Given the description of an element on the screen output the (x, y) to click on. 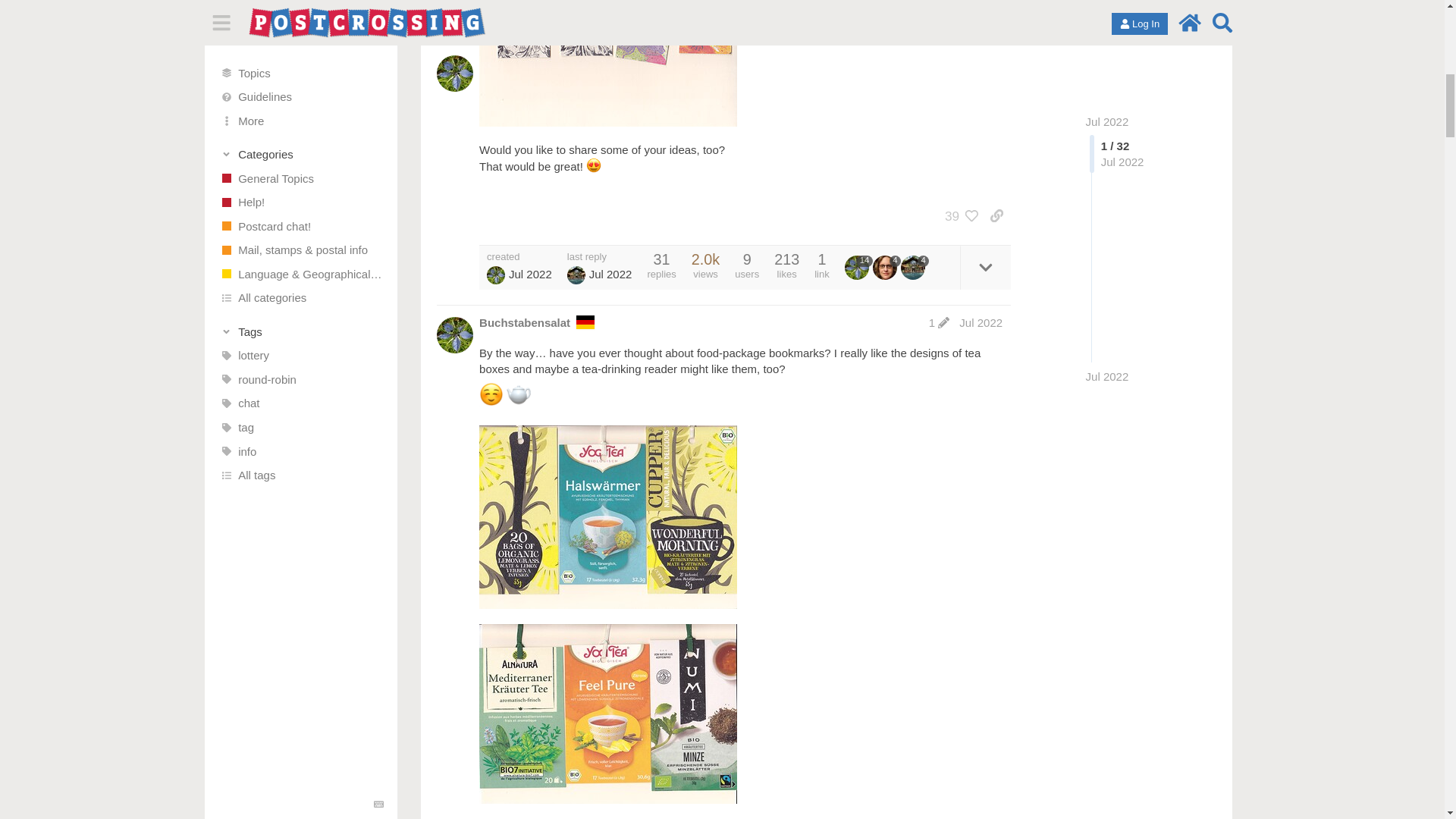
Keyboard Shortcuts (378, 1)
39 (957, 216)
